Given the description of an element on the screen output the (x, y) to click on. 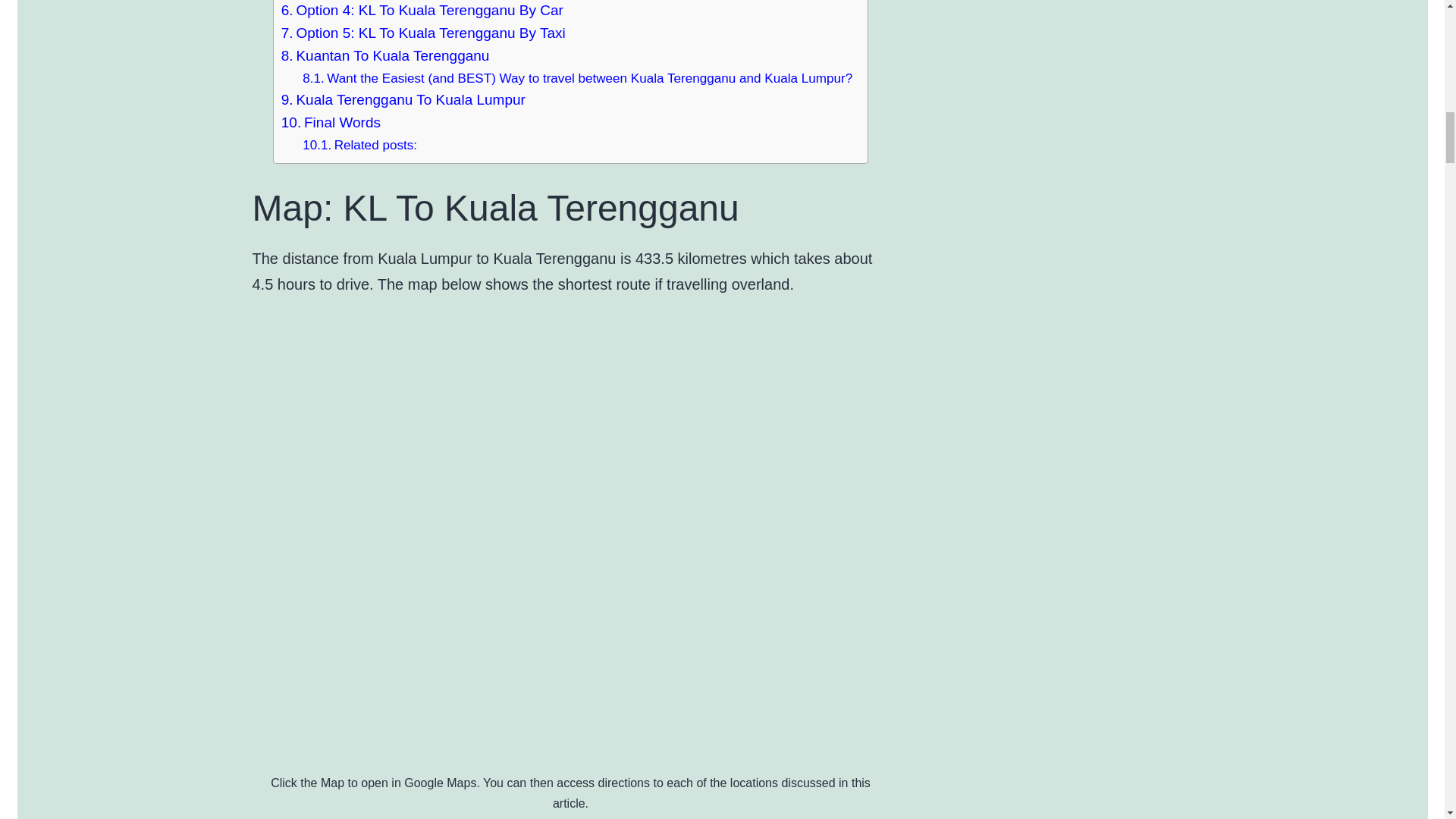
Kuantan To Kuala Terengganu (385, 56)
Final Words (330, 122)
Kuala Terengganu To Kuala Lumpur (403, 99)
Option 5: KL To Kuala Terengganu By Taxi (423, 33)
Related posts: (359, 145)
Option 4: KL To Kuala Terengganu By Car (422, 10)
